Given the description of an element on the screen output the (x, y) to click on. 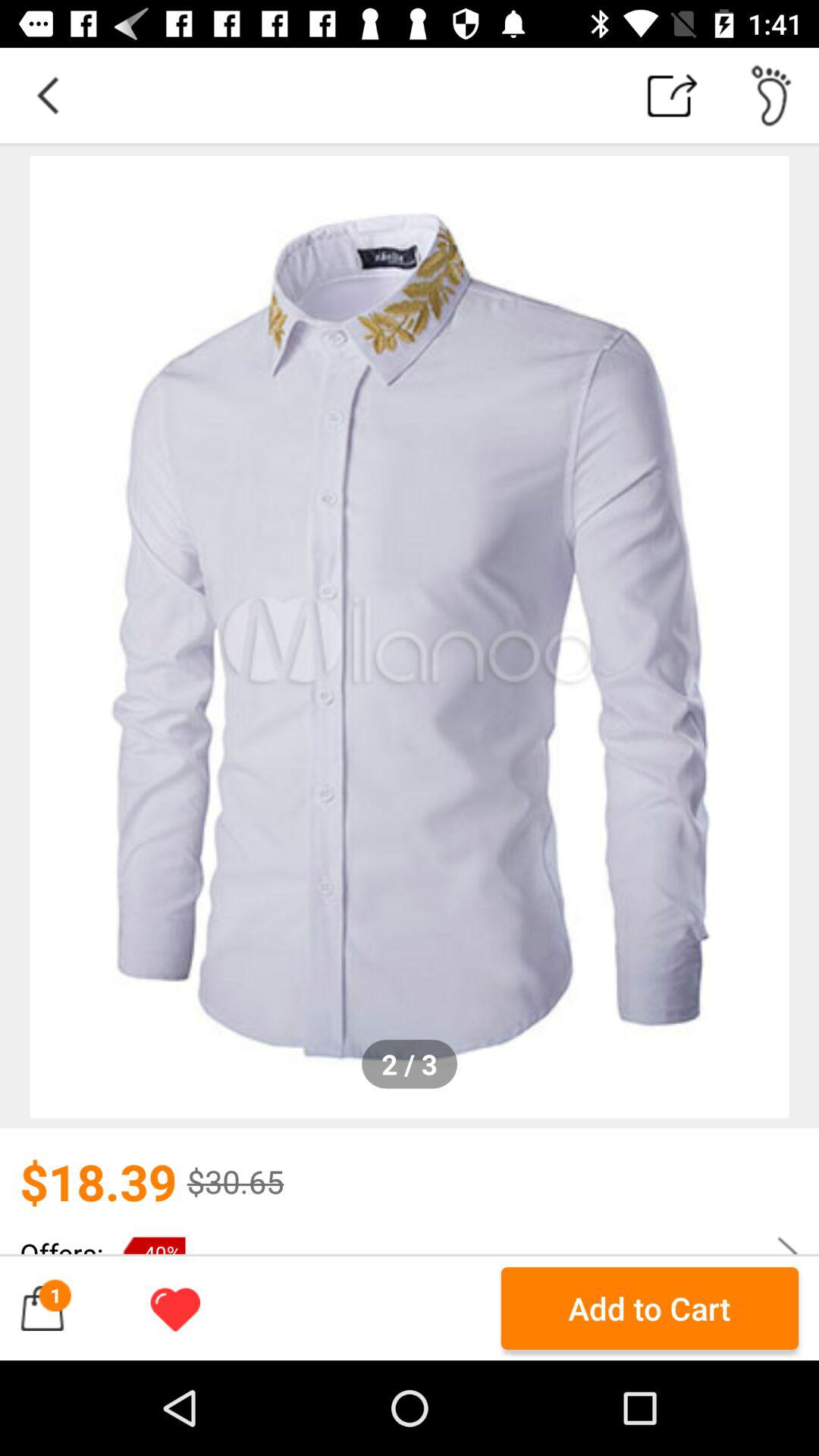
turn on the item to the left of the add to cart icon (175, 1308)
